Given the description of an element on the screen output the (x, y) to click on. 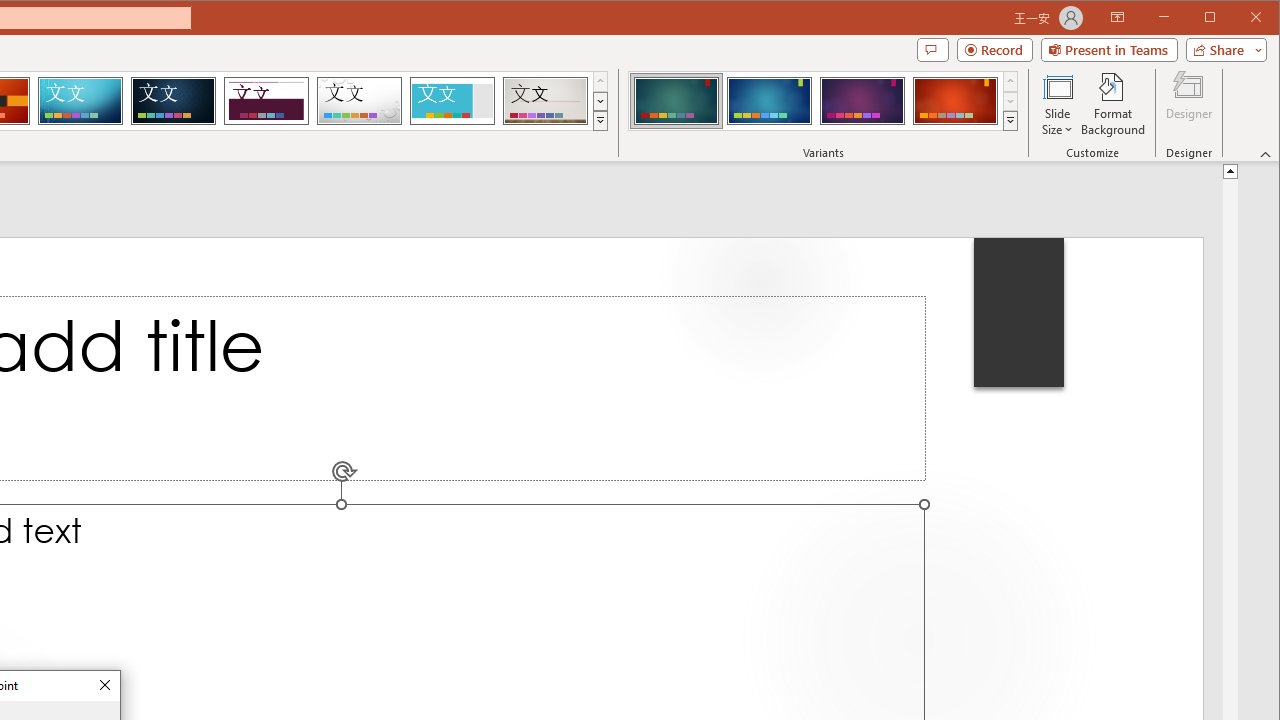
Ion Variant 3 (862, 100)
Frame (452, 100)
Ion Variant 2 (769, 100)
Ion Variant 4 (955, 100)
Circuit (80, 100)
Ion Variant 1 (676, 100)
